Given the description of an element on the screen output the (x, y) to click on. 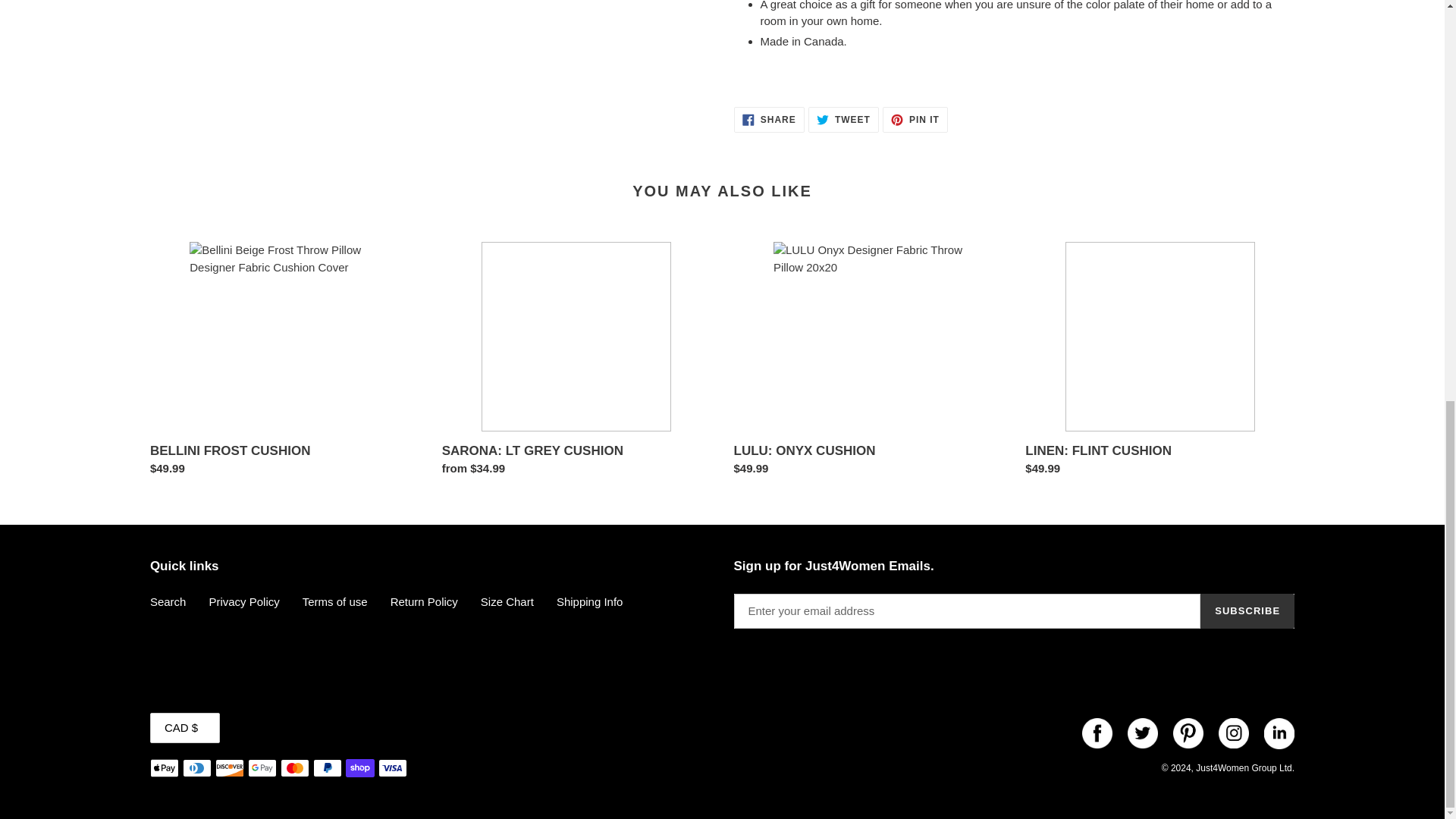
SARONA: LT GREY CUSHION (843, 119)
Privacy Policy (576, 362)
BELLINI FROST CUSHION (243, 601)
LINEN: FLINT CUSHION (914, 119)
LULU: ONYX CUSHION (769, 119)
Terms of use (284, 362)
Search (1159, 362)
